Given the description of an element on the screen output the (x, y) to click on. 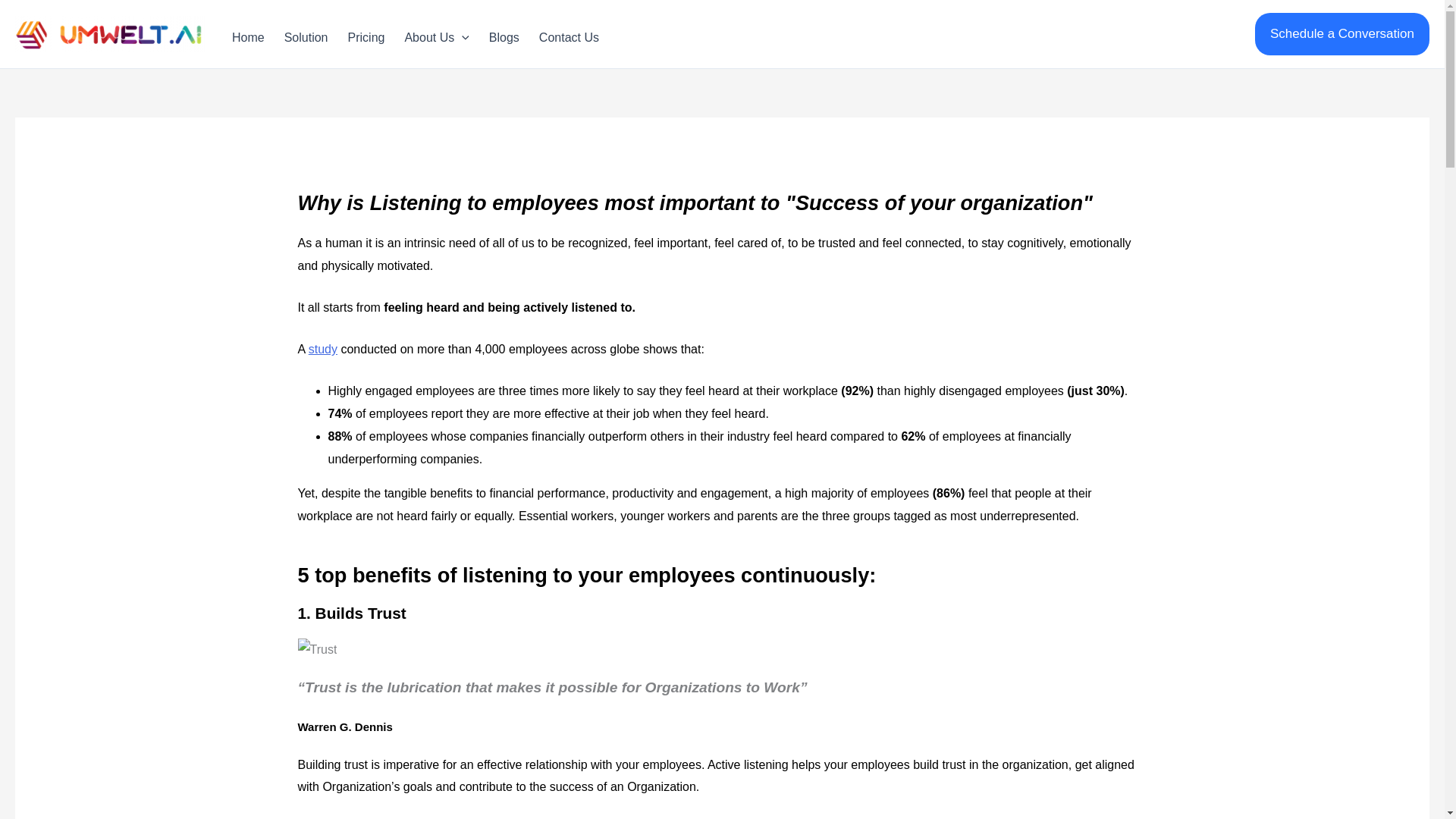
Contact Us (567, 33)
Solution (304, 33)
Trust (316, 649)
study (322, 349)
Schedule a Conversation (1342, 34)
About Us (433, 33)
